Given the description of an element on the screen output the (x, y) to click on. 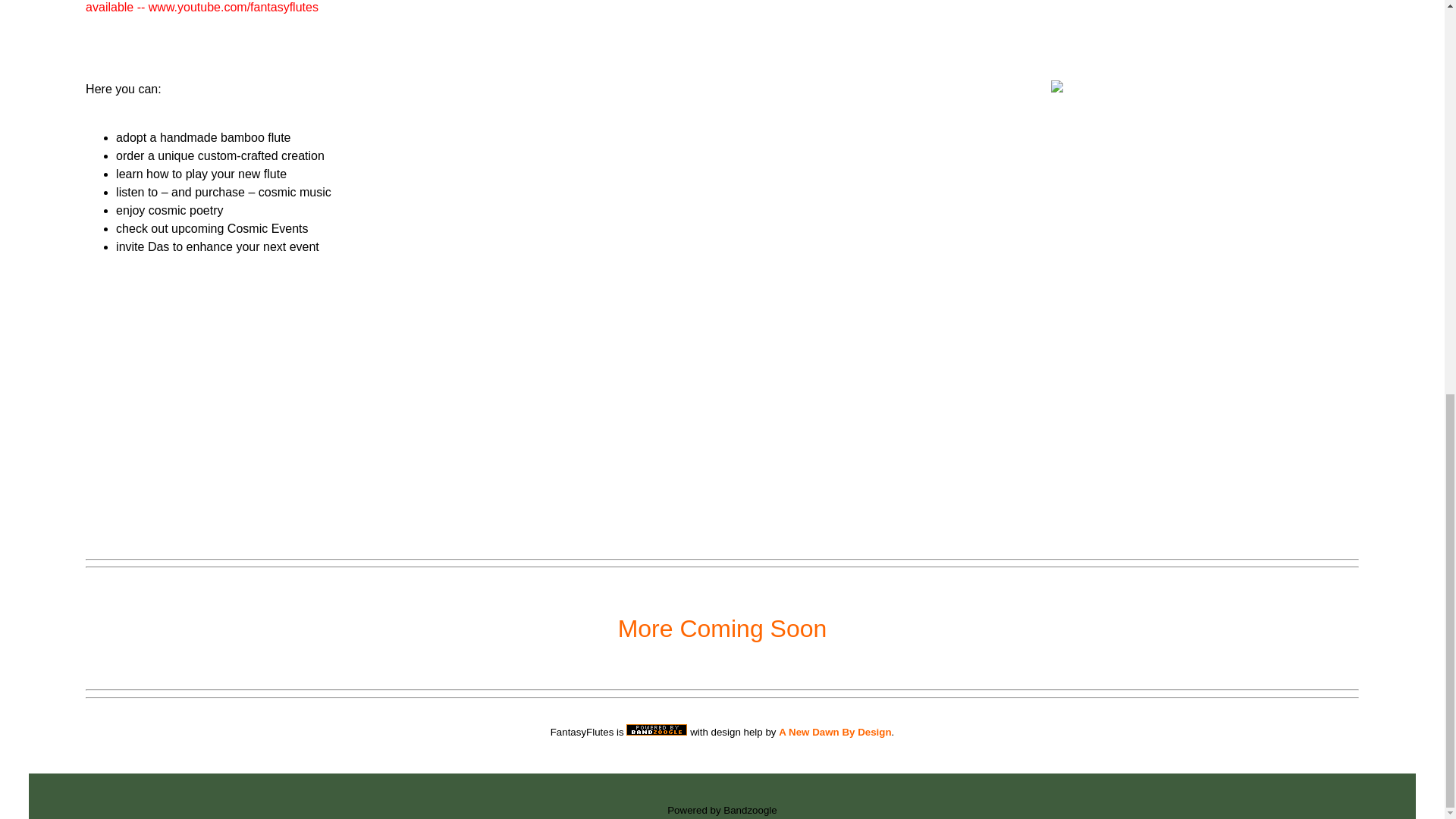
Powered by Bandzoogle (721, 809)
Powered by Bandzoogle (721, 809)
A New Dawn By Design (834, 731)
